Given the description of an element on the screen output the (x, y) to click on. 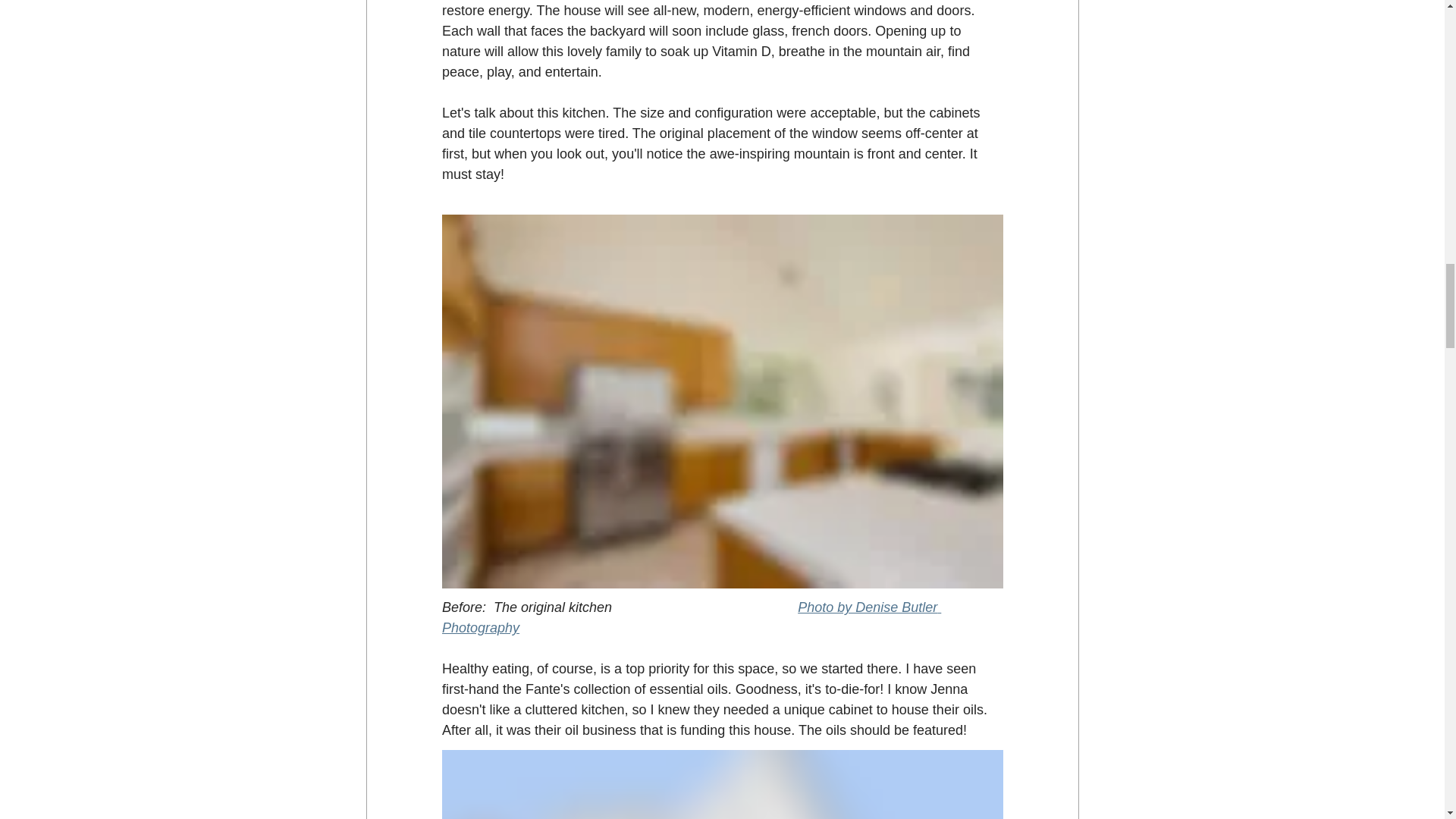
Photo by Denise Butler Photography (690, 617)
